Given the description of an element on the screen output the (x, y) to click on. 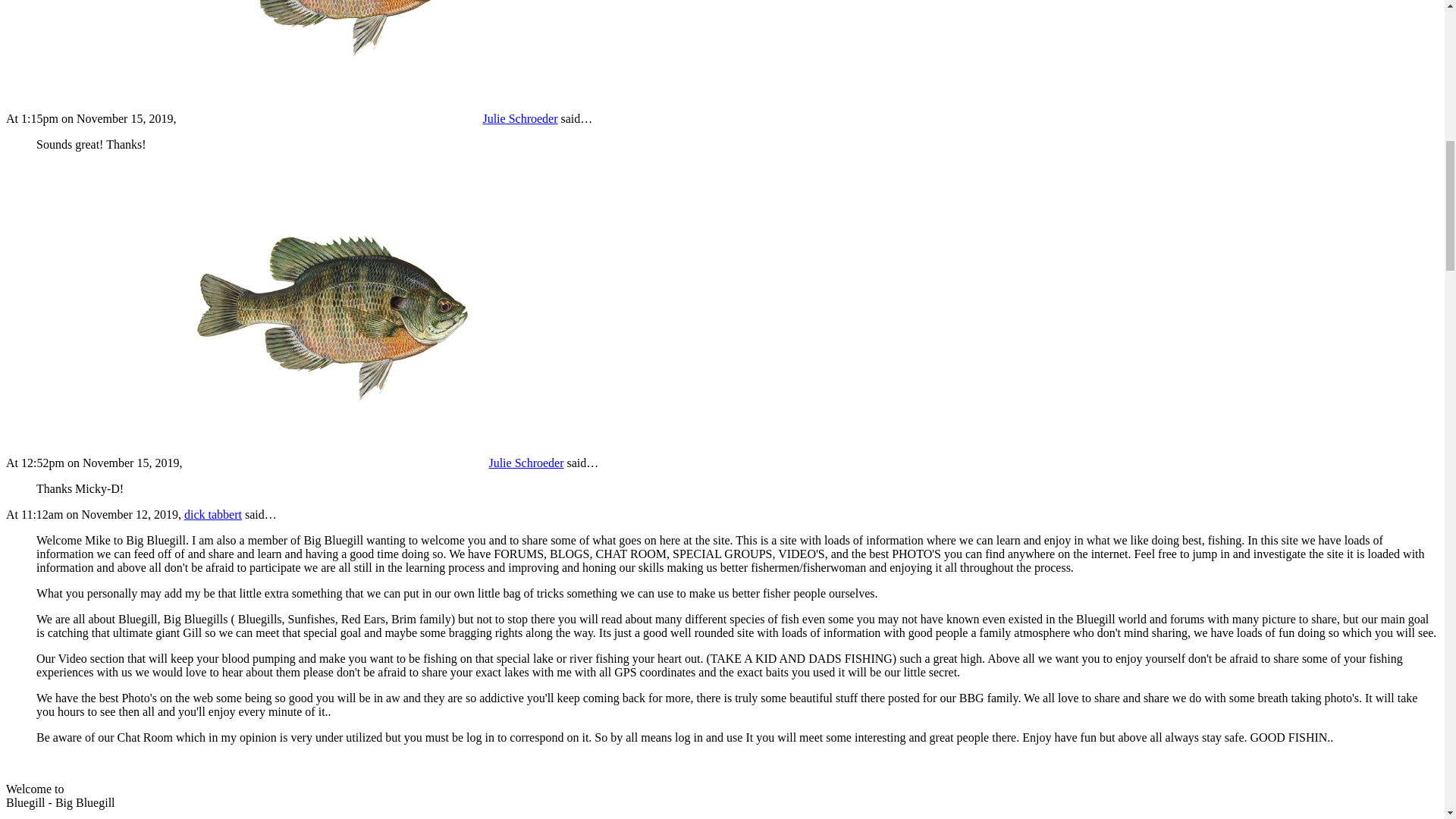
Julie Schroeder (368, 118)
dick tabbert (212, 513)
Julie Schroeder (373, 462)
